Given the description of an element on the screen output the (x, y) to click on. 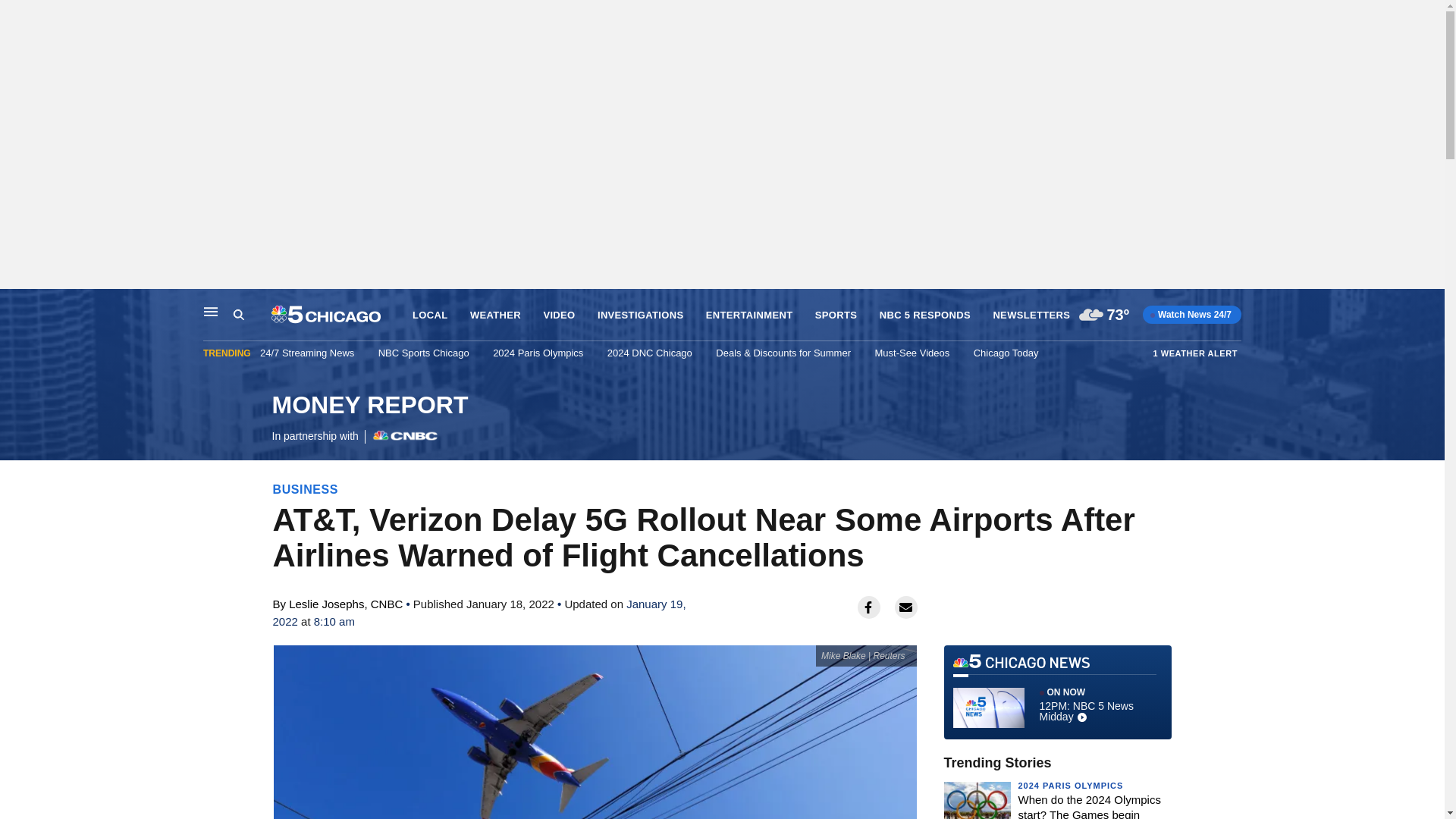
SPORTS (836, 315)
VIDEO (559, 315)
Chicago Today (1006, 352)
Main Navigation (210, 311)
Search (238, 314)
LOCAL (368, 418)
Search (429, 315)
NEWSLETTERS (252, 314)
2024 DNC Chicago (1031, 315)
NBC 5 RESPONDS (650, 352)
WEATHER (925, 315)
Skip to content (495, 315)
INVESTIGATIONS (16, 304)
Must-See Videos (639, 315)
